Given the description of an element on the screen output the (x, y) to click on. 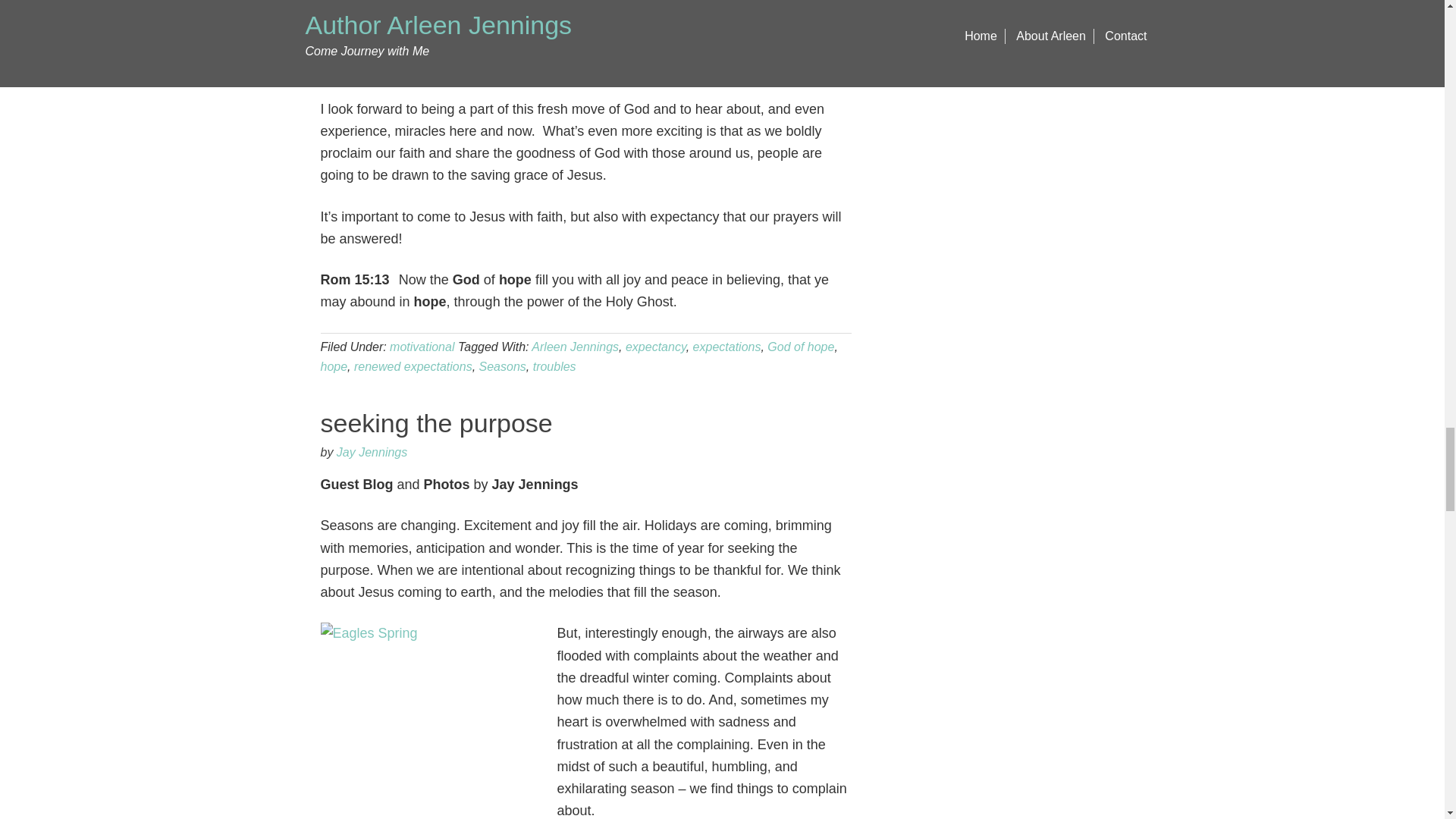
expectancy (655, 346)
Seasons (502, 366)
Arleen Jennings (574, 346)
God of hope (800, 346)
renewed expectations (412, 366)
expectations (727, 346)
motivational (422, 346)
seeking the purpose (435, 422)
hope (333, 366)
troubles (554, 366)
Jay Jennings (371, 451)
